Given the description of an element on the screen output the (x, y) to click on. 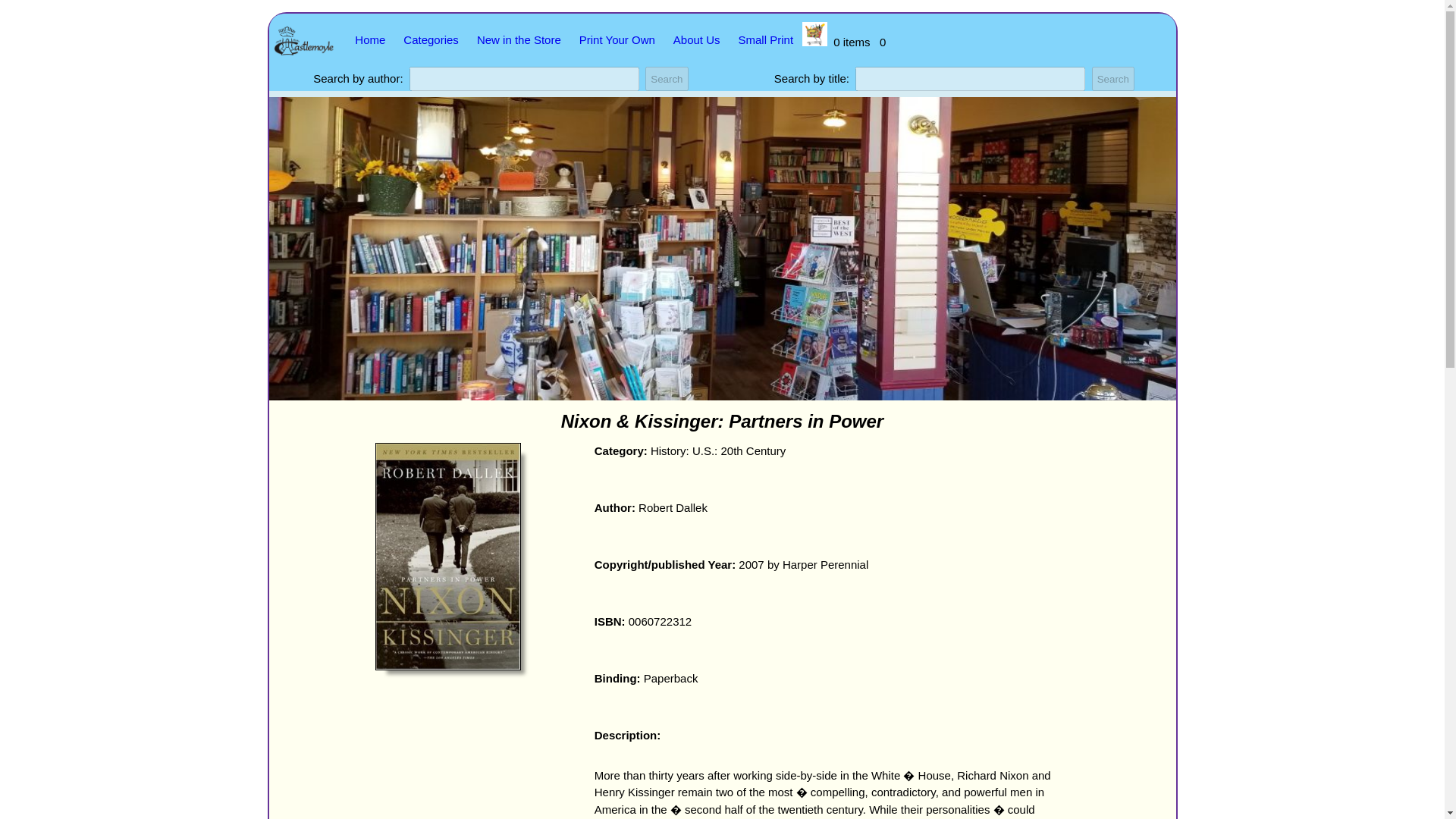
Small Print (765, 39)
Categories (430, 39)
Print Your Own (617, 39)
New in the Store (518, 39)
Search (666, 78)
Home (370, 39)
About Us (696, 39)
Search (666, 78)
